Given the description of an element on the screen output the (x, y) to click on. 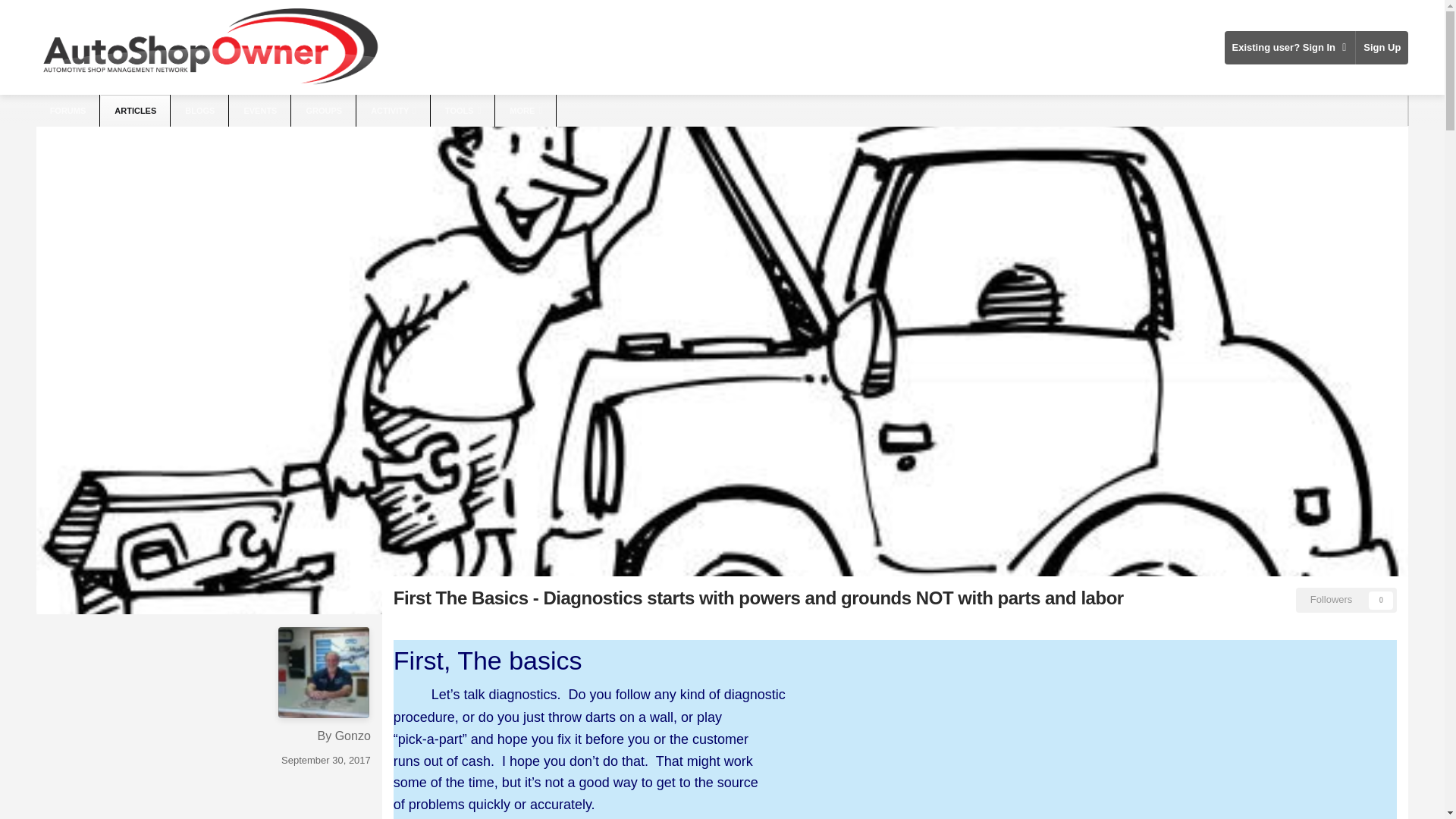
Existing user? Sign In   (1289, 46)
TOOLS (463, 110)
Go to Gonzo's profile (323, 672)
EVENTS (260, 110)
BLOGS (199, 110)
ARTICLES (135, 110)
GROUPS (324, 110)
Sign in to follow this (1346, 599)
FORUMS (68, 110)
MORE (526, 110)
